Given the description of an element on the screen output the (x, y) to click on. 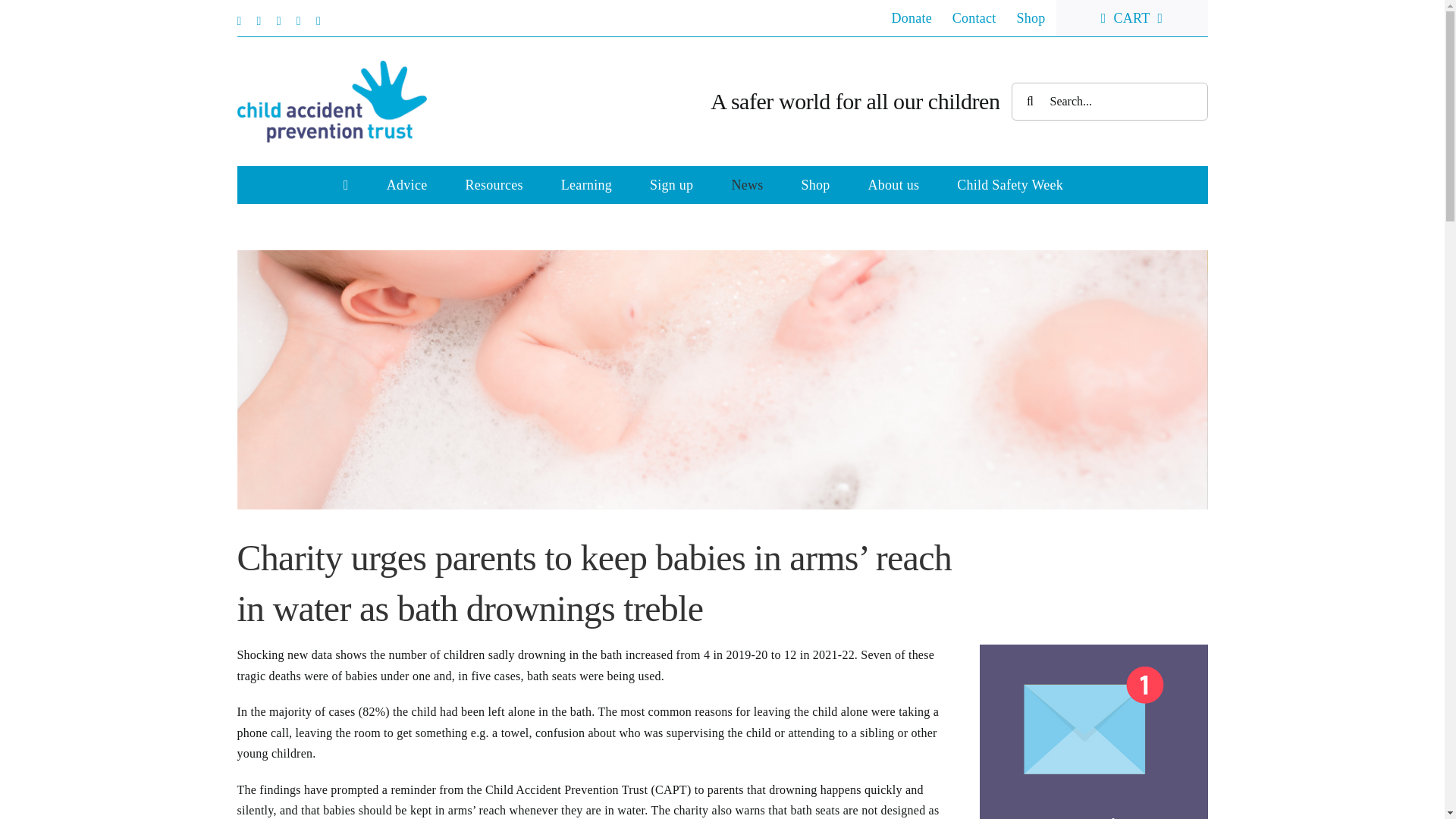
Sign up (671, 184)
About us (893, 184)
CART (1132, 18)
Learning (585, 184)
Contact (974, 18)
Resources (493, 184)
Shop (1031, 18)
Advice (407, 184)
Child Safety Week (1009, 184)
Donate (910, 18)
